Given the description of an element on the screen output the (x, y) to click on. 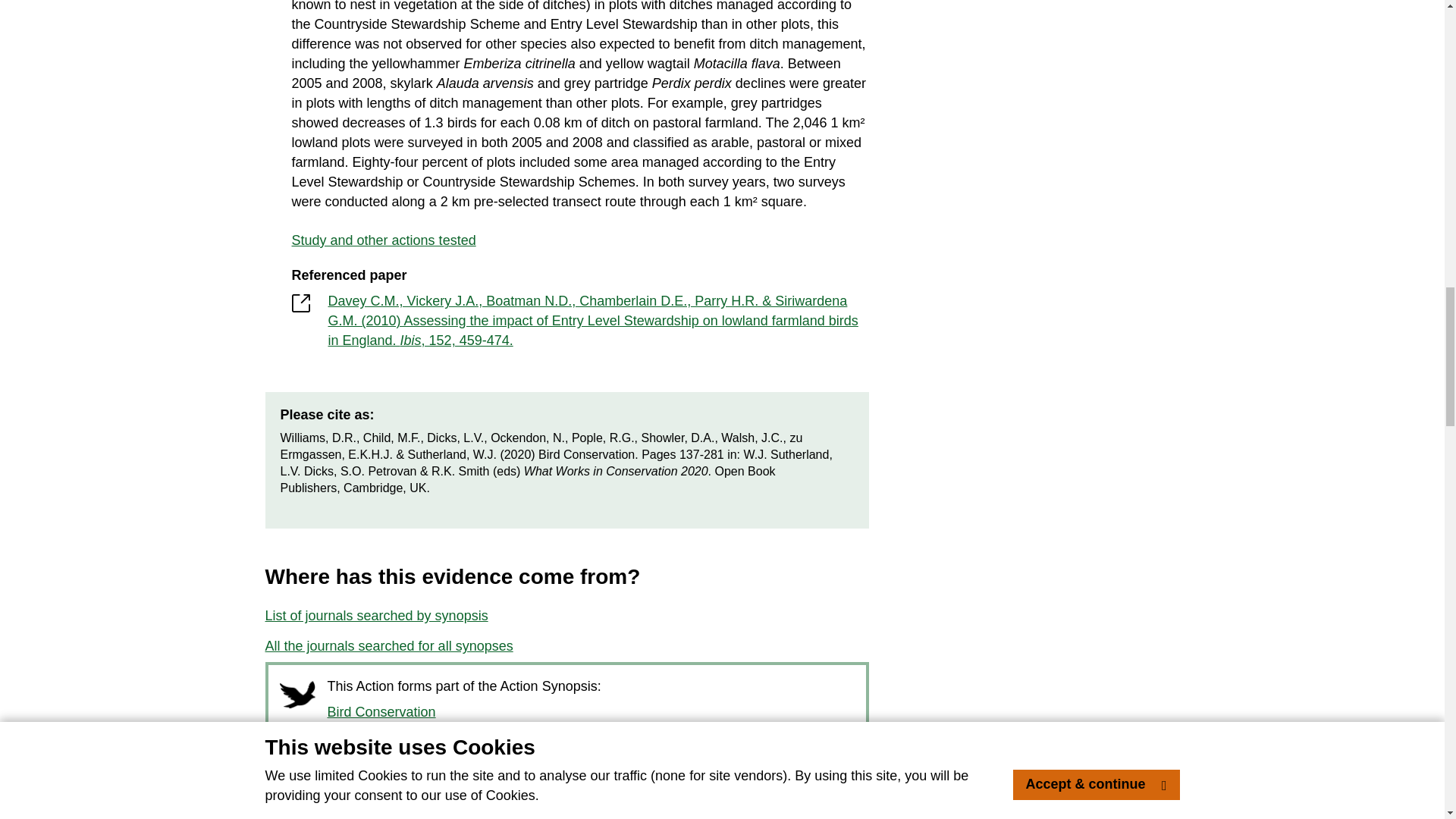
Study and other actions tested (579, 240)
All the journals searched for all synopses (388, 646)
List of journals searched by synopsis (375, 616)
Bird Conservation (411, 712)
